Given the description of an element on the screen output the (x, y) to click on. 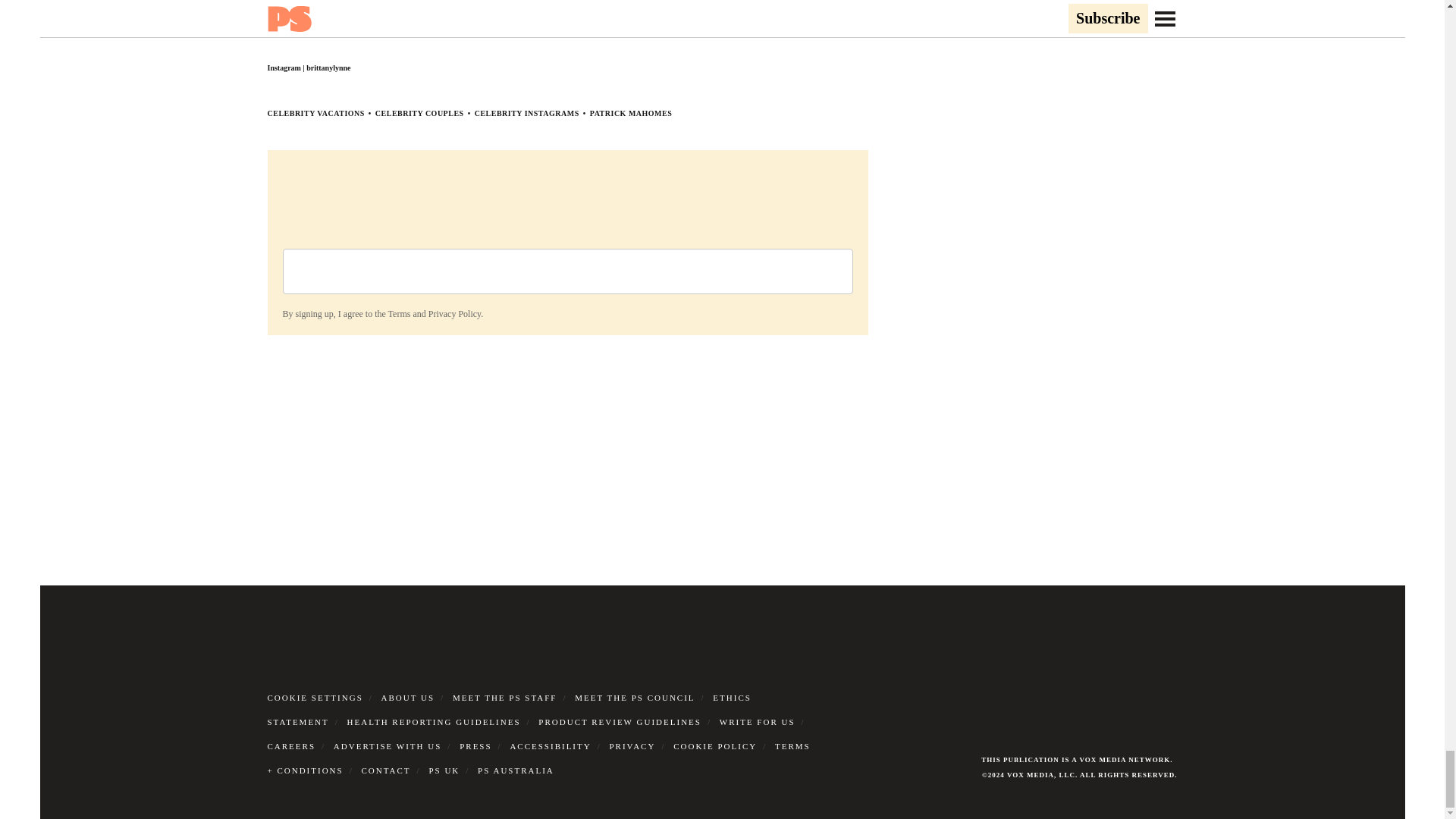
CELEBRITY VACATIONS (315, 112)
PATRICK MAHOMES (630, 112)
CELEBRITY COUPLES (419, 112)
Terms (399, 313)
Privacy Policy. (455, 313)
CELEBRITY INSTAGRAMS (526, 112)
